Given the description of an element on the screen output the (x, y) to click on. 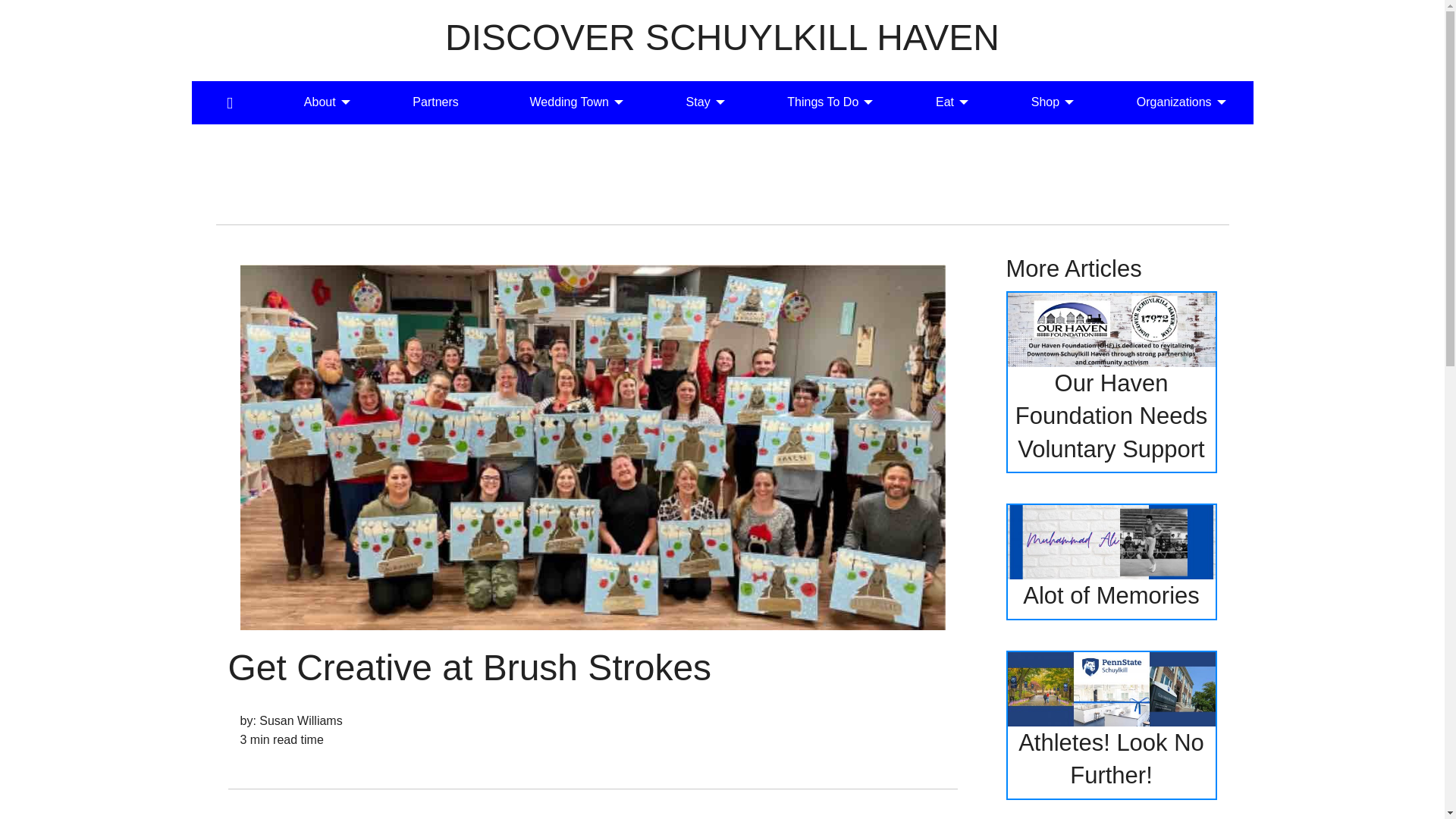
Eat (947, 102)
Wedding Town (572, 102)
Welcome (229, 102)
Shop (1048, 102)
Interests (435, 102)
About (322, 102)
Stay (701, 102)
Partners (435, 102)
Things To Do (825, 102)
